Given the description of an element on the screen output the (x, y) to click on. 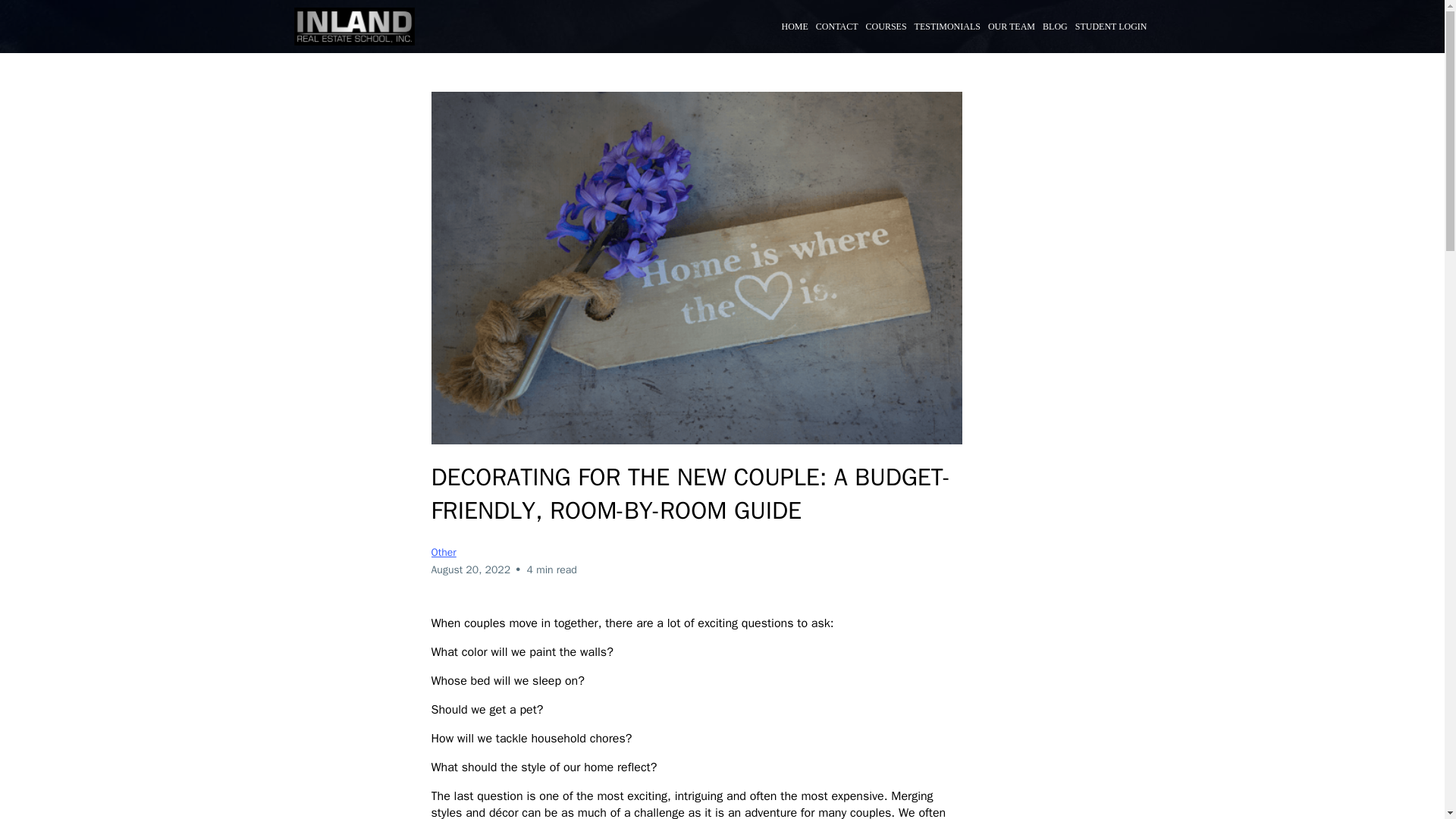
COURSES (886, 26)
CONTACT (836, 26)
TESTIMONIALS (947, 26)
BLOG (1055, 26)
OUR TEAM (1011, 26)
Other (442, 552)
STUDENT LOGIN (1111, 26)
HOME (794, 26)
